Given the description of an element on the screen output the (x, y) to click on. 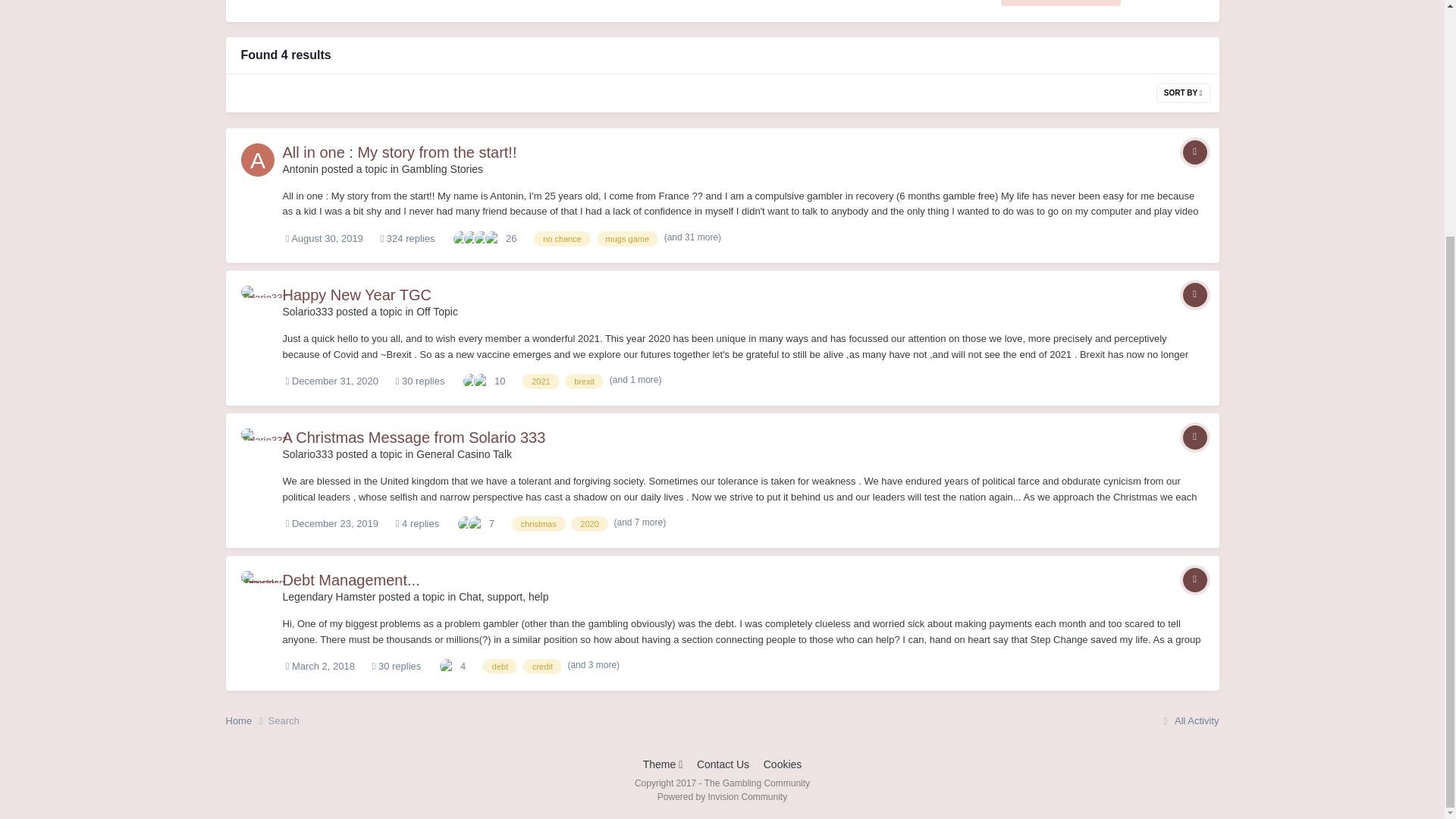
Good Luck! (460, 237)
Topic (1194, 152)
Go to Antonin's profile (299, 168)
Find other content tagged with 'no chance' (562, 238)
Go to Antonin's profile (258, 159)
Keeemon (482, 237)
Puke! (492, 237)
More search options (1061, 2)
Chaching! (471, 237)
Find other content tagged with 'mugs game' (627, 238)
